Given the description of an element on the screen output the (x, y) to click on. 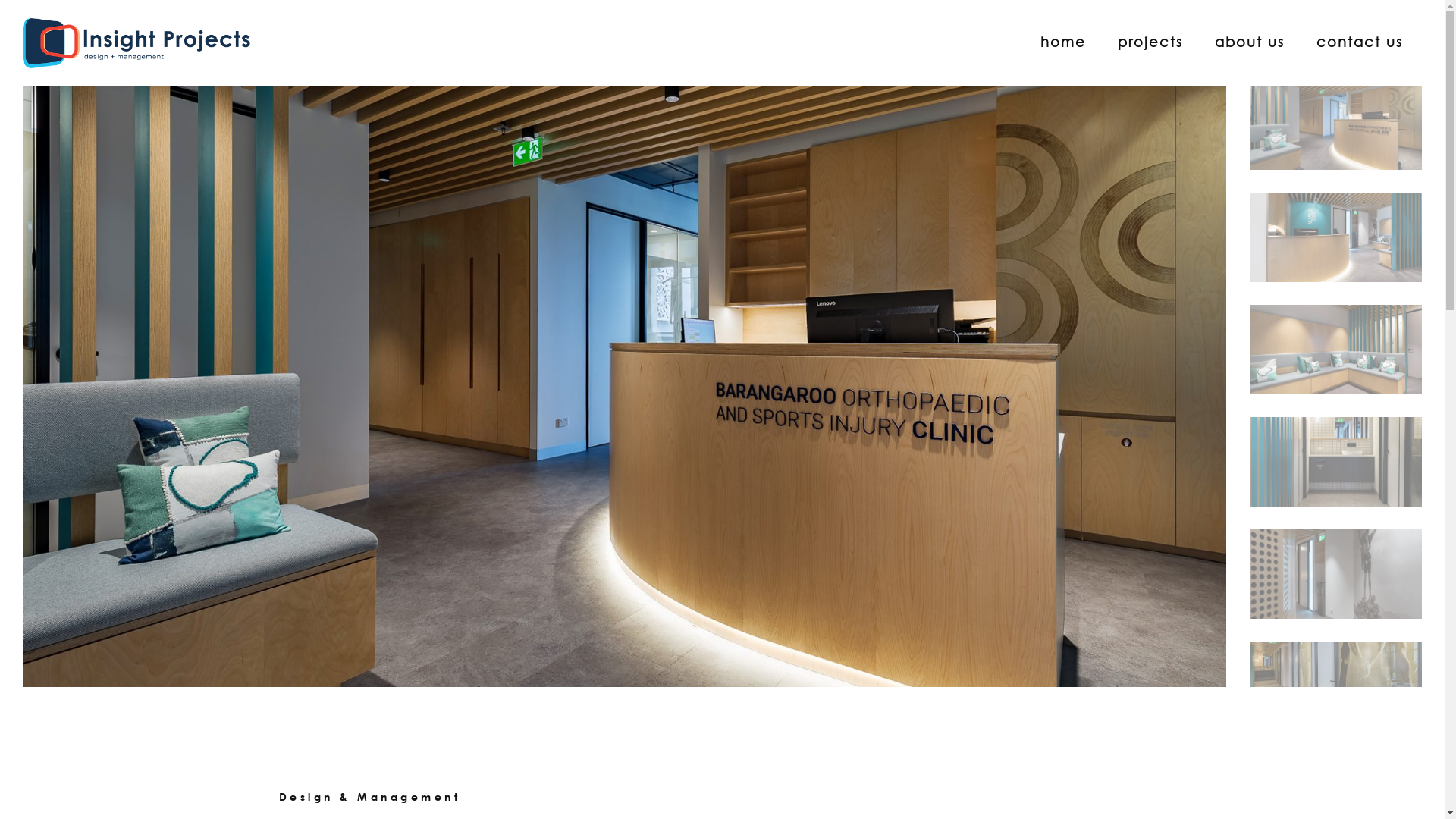
contact us Element type: text (1359, 41)
about us Element type: text (1249, 41)
home Element type: text (1063, 41)
projects Element type: text (1150, 41)
